Given the description of an element on the screen output the (x, y) to click on. 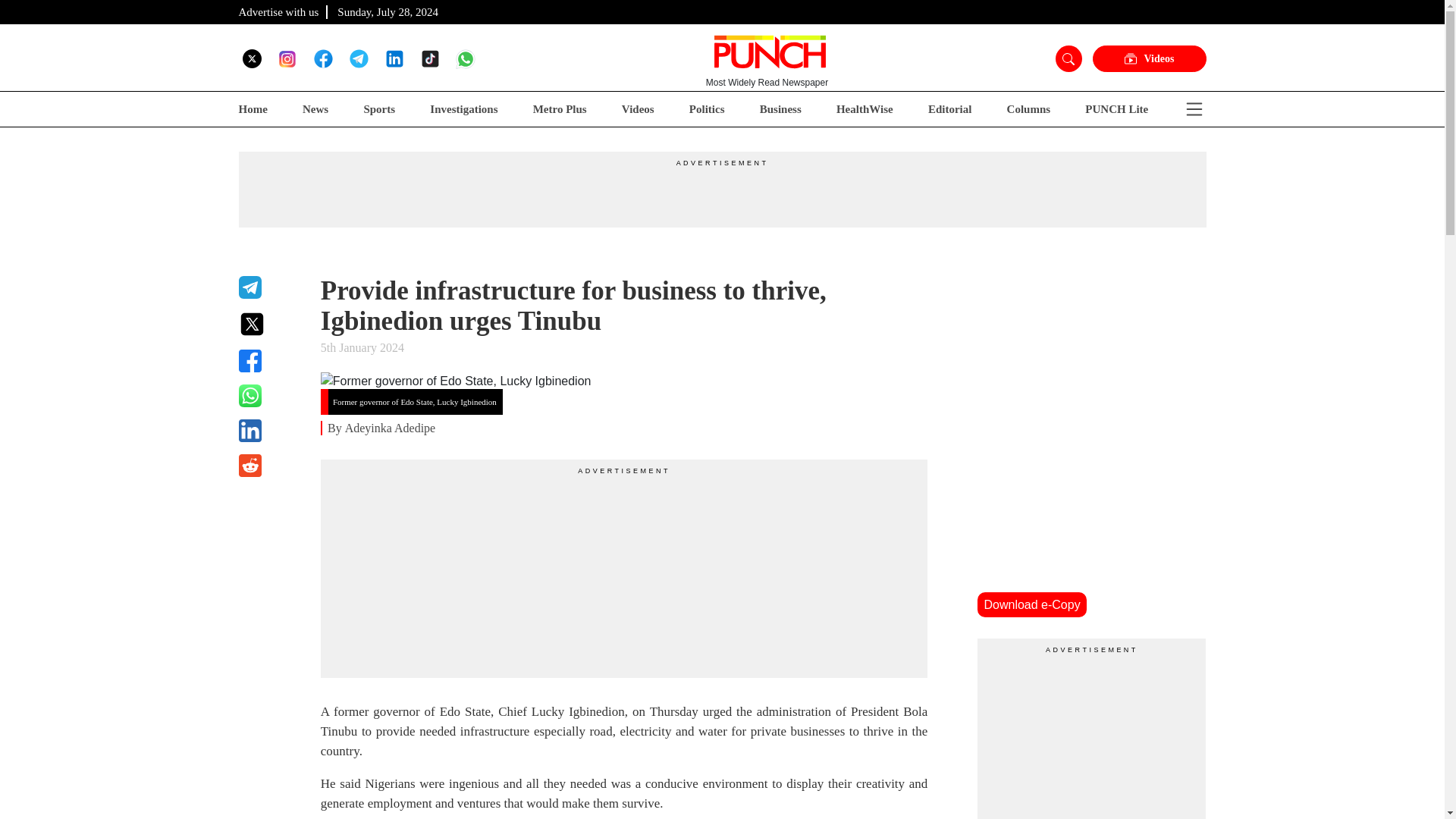
Sports (378, 109)
Follow Us on Facebook (323, 58)
Follow Us on Instagram (287, 58)
Advertise with us (278, 11)
HealthWise (864, 109)
Metro Plus (559, 109)
Share on Linkedin (269, 430)
Follow us on Linkedin (395, 58)
Follow us on our Whatsapp Channel (465, 57)
Home (252, 109)
PUNCH Lite (1116, 109)
Business (781, 109)
Share on Reddit (269, 465)
Share on Telegram (269, 287)
Columns (1029, 109)
